Given the description of an element on the screen output the (x, y) to click on. 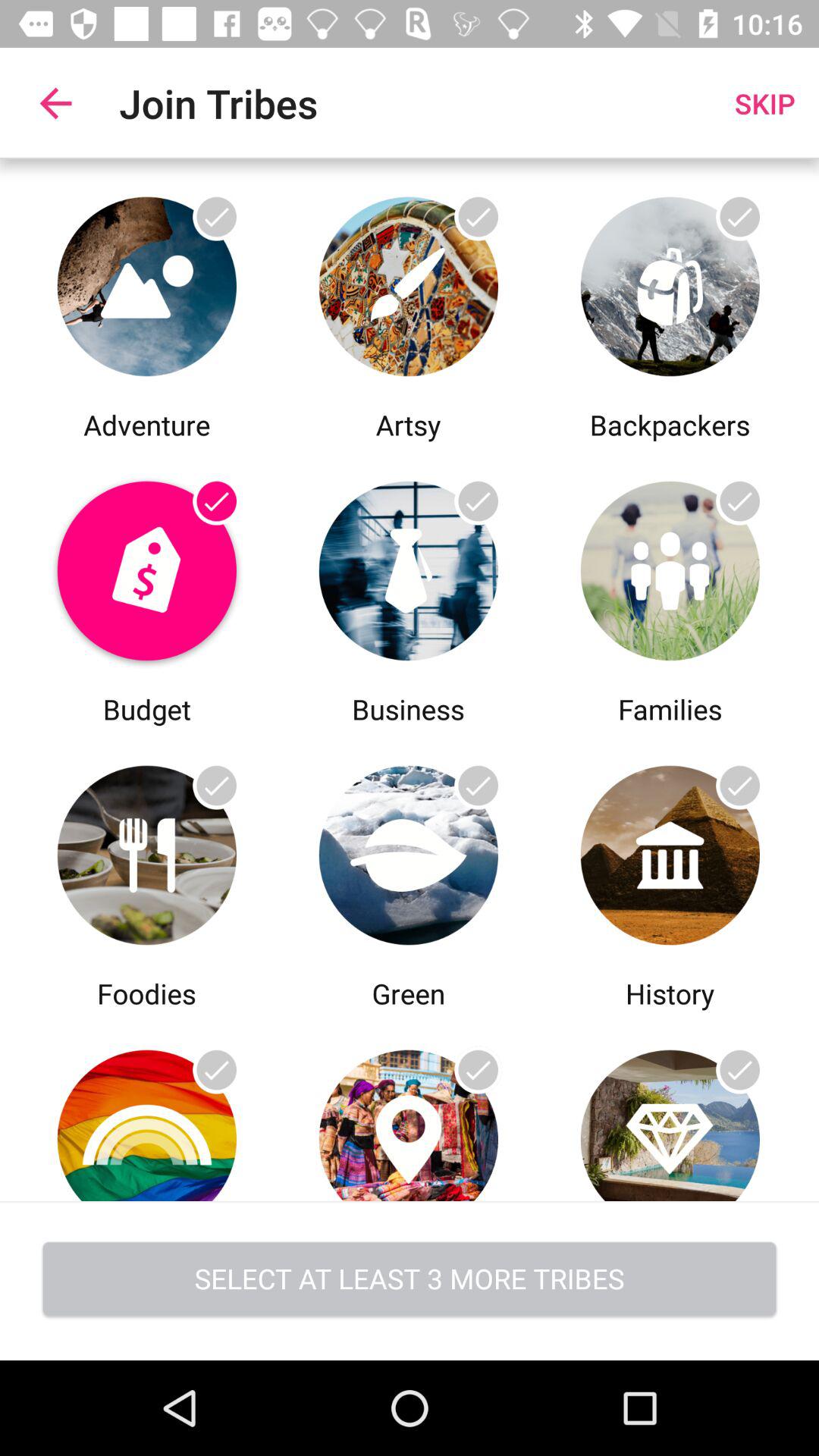
share the article (146, 1106)
